Given the description of an element on the screen output the (x, y) to click on. 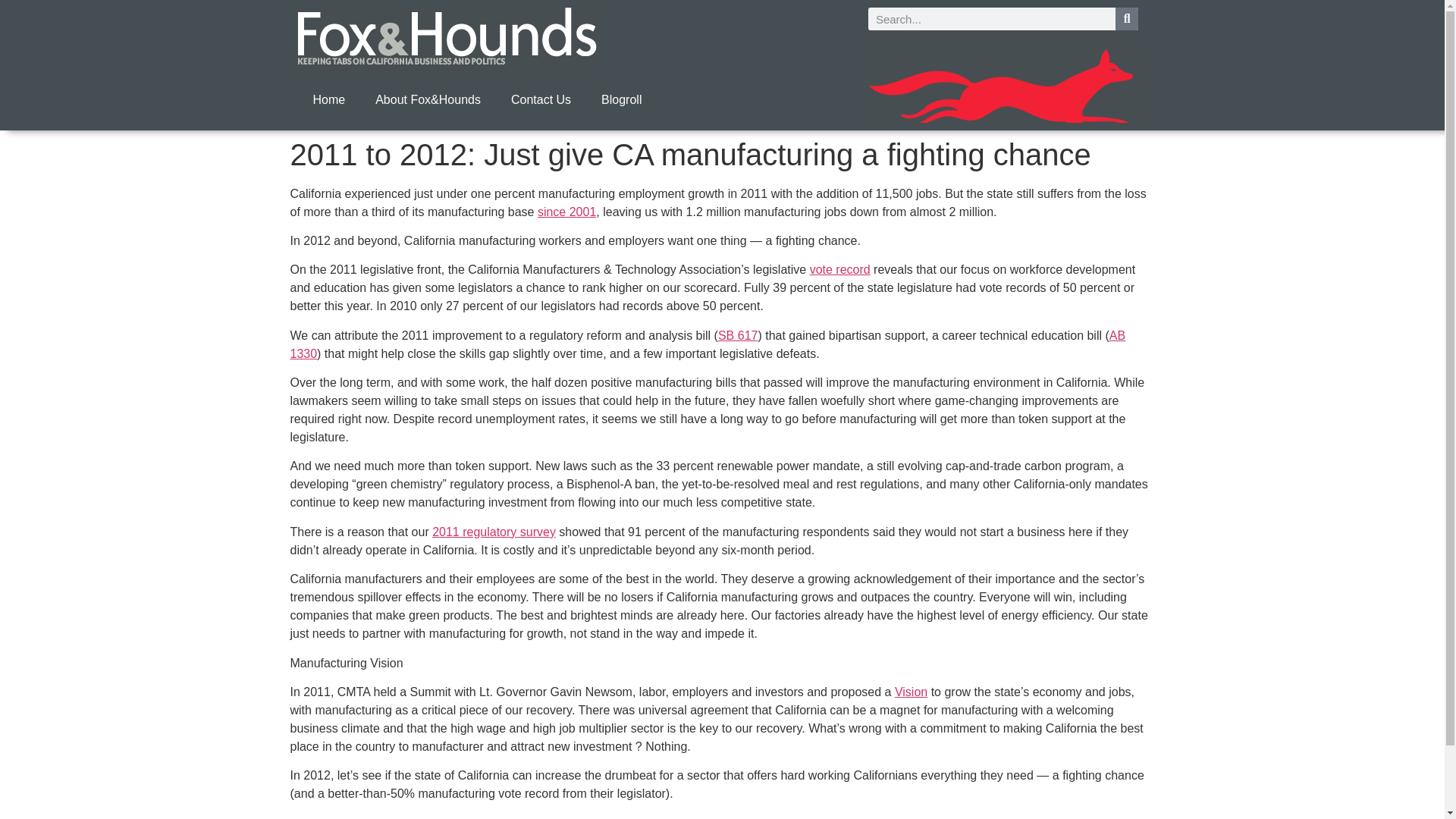
SB 617 (737, 335)
Home (328, 99)
since 2001 (566, 211)
AB 1330 (707, 344)
Contact Us (541, 99)
vote record (839, 269)
Vision (911, 691)
Blogroll (621, 99)
2011 regulatory survey (494, 531)
